Given the description of an element on the screen output the (x, y) to click on. 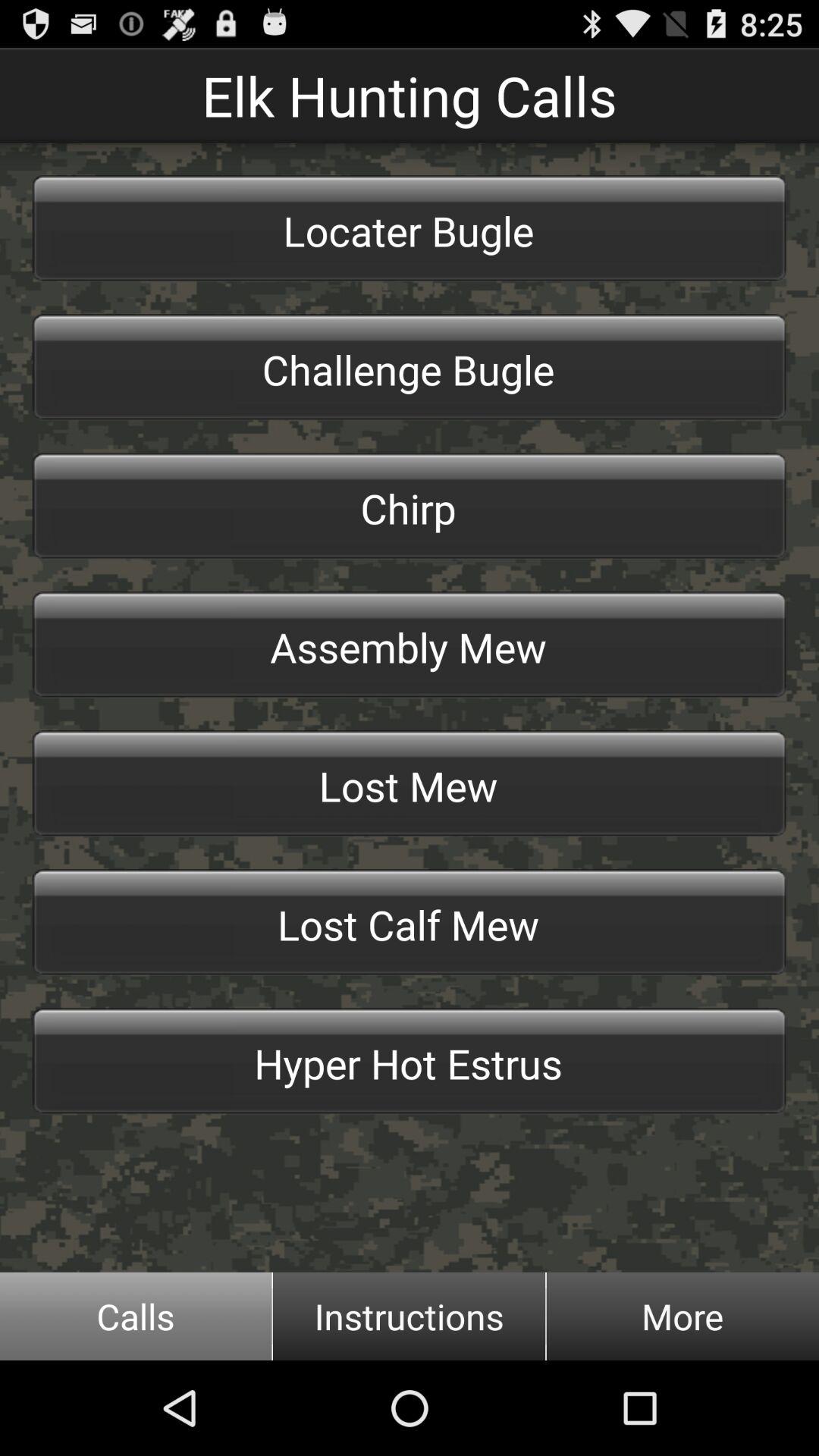
select chirp button (409, 505)
